Given the description of an element on the screen output the (x, y) to click on. 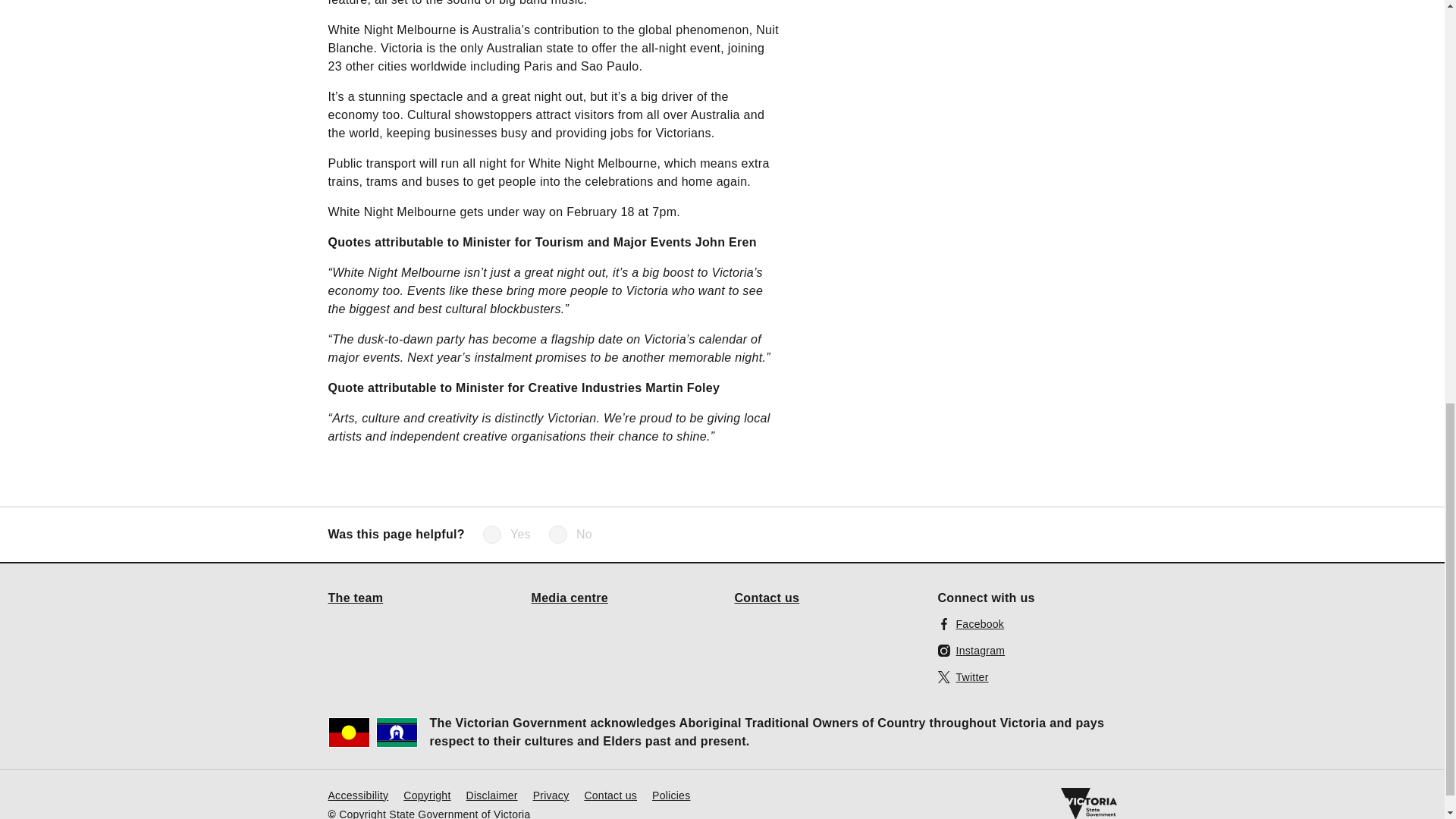
Privacy (550, 794)
Contact us (766, 597)
Twitter (962, 676)
Contact us (610, 794)
Disclaimer (491, 794)
The team (354, 597)
Media centre (569, 597)
Copyright (426, 794)
Facebook (970, 622)
Policies (671, 794)
